Given the description of an element on the screen output the (x, y) to click on. 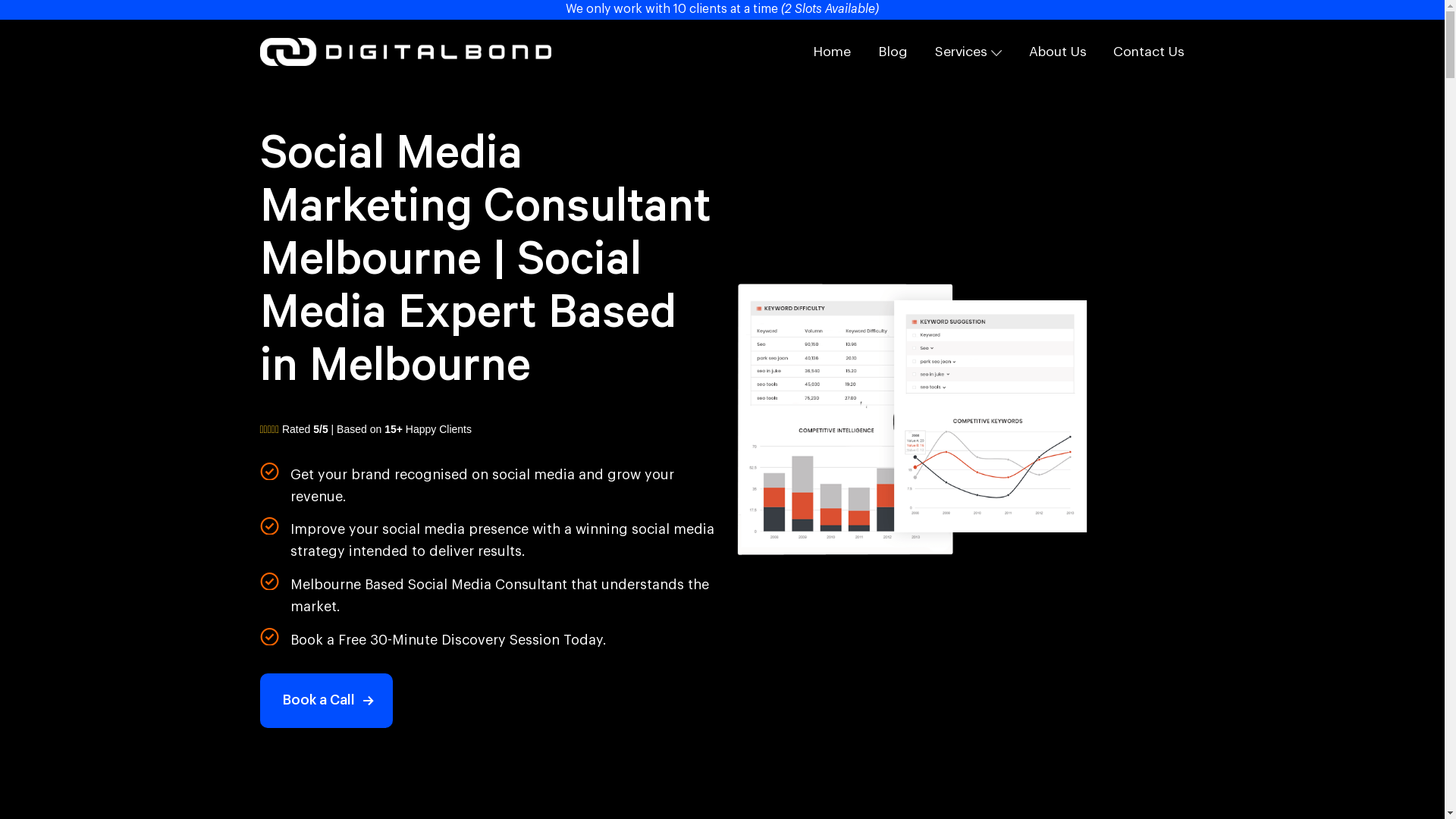
About Us Element type: text (1057, 51)
Sign Up Element type: text (462, 18)
Home Element type: text (831, 51)
Blog Element type: text (892, 51)
Book a Call Element type: text (325, 700)
Services Element type: text (968, 51)
Contact Us Element type: text (1148, 51)
